Given the description of an element on the screen output the (x, y) to click on. 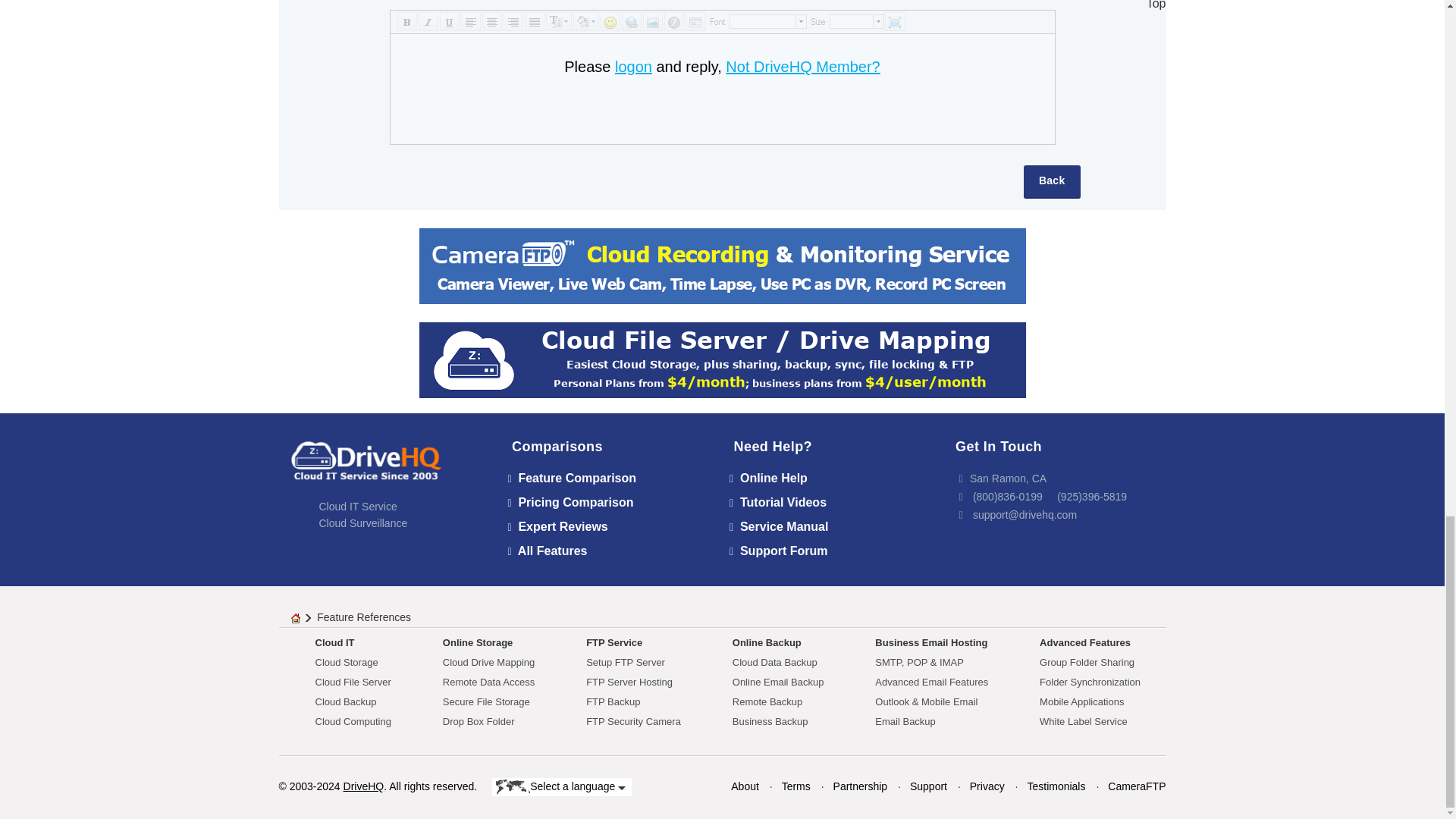
Back (1051, 182)
